Given the description of an element on the screen output the (x, y) to click on. 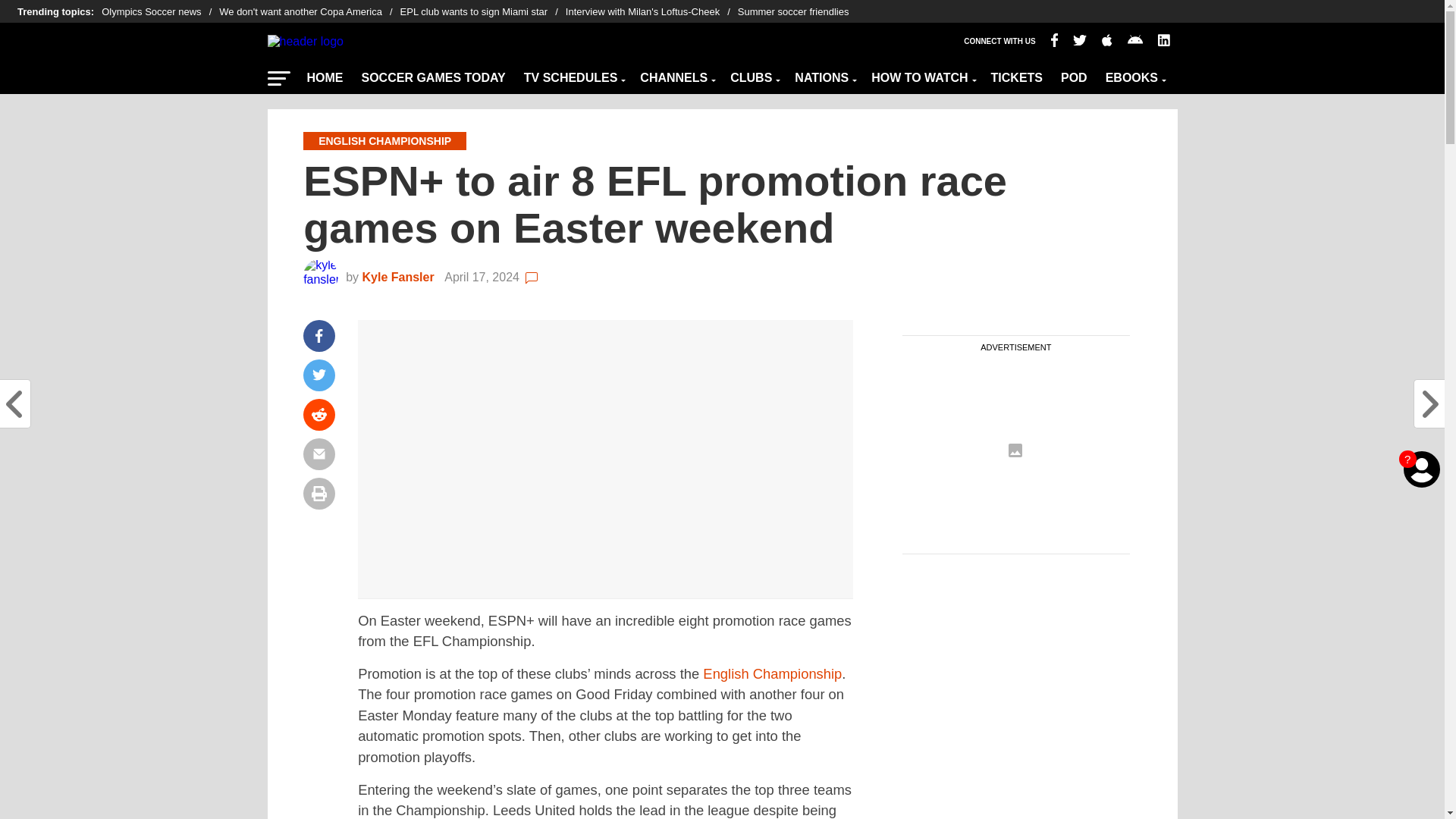
Interview with Milan's Loftus-Cheek (652, 12)
NATIONS (823, 74)
Summer soccer friendlies (793, 12)
EPL club wants to sign Miami star (483, 12)
TICKETS (1016, 74)
EBOOKS (1134, 74)
CLUBS (753, 74)
We don't want another Copa America (308, 12)
TV SCHEDULES (573, 74)
HOME (324, 74)
CHANNELS (675, 74)
Kyle Fansler (401, 277)
Olympics Soccer news (160, 12)
POD (1073, 74)
